Given the description of an element on the screen output the (x, y) to click on. 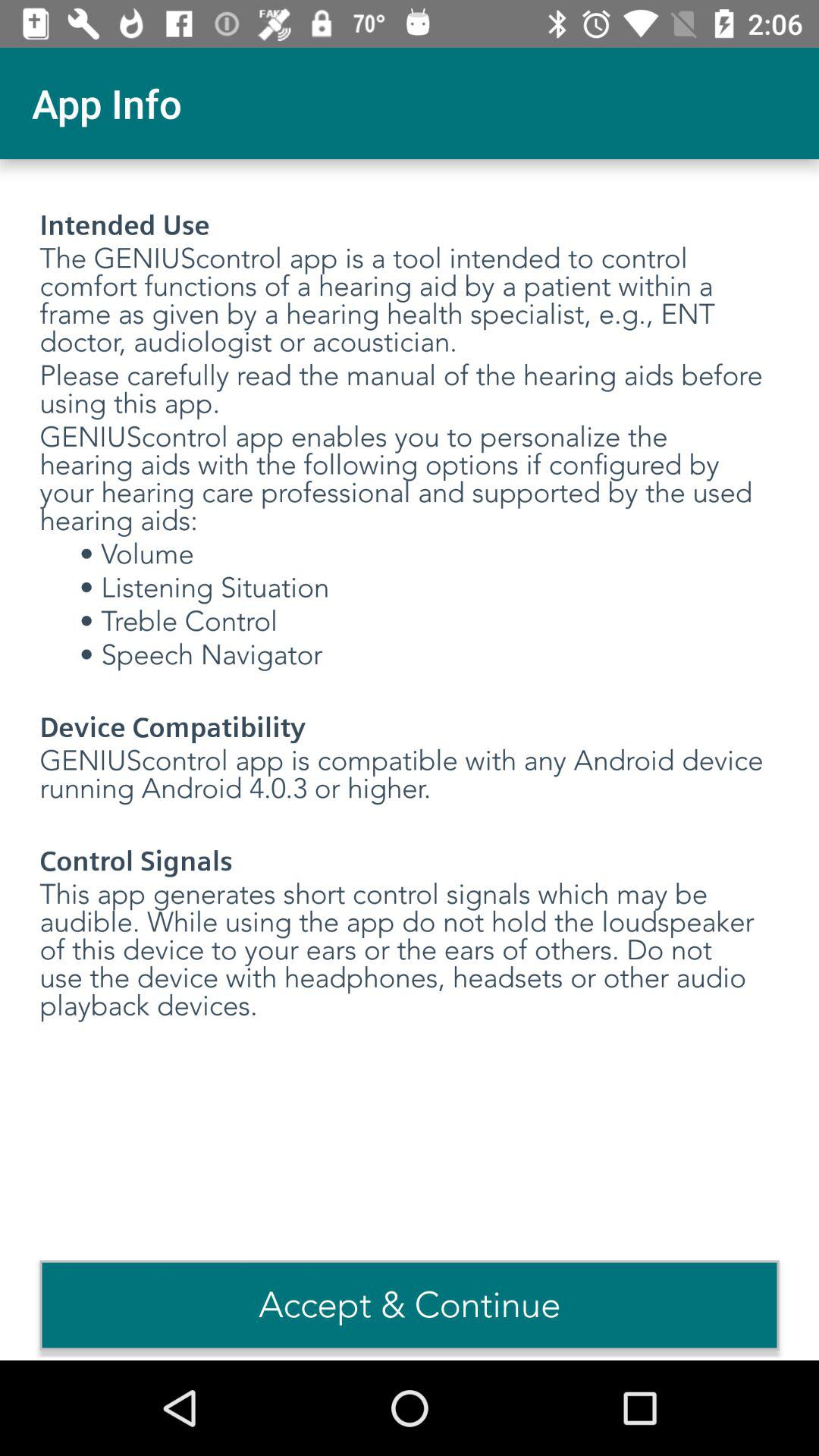
click on the option acceptcontinue (409, 1305)
